Given the description of an element on the screen output the (x, y) to click on. 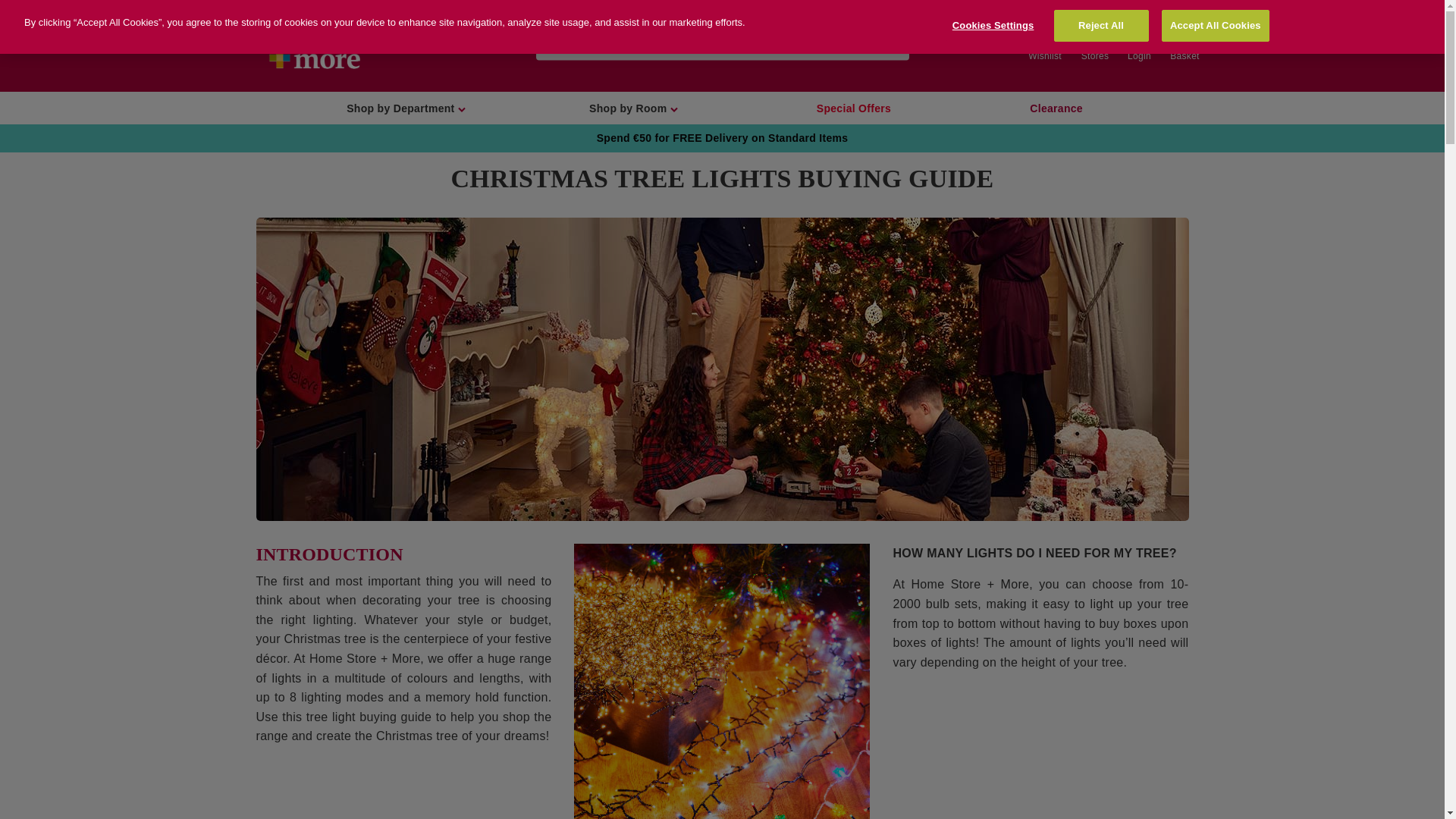
Wishlist (1035, 45)
Basket (1184, 45)
View Basket (1184, 45)
Wishlist (1035, 45)
Stores (1085, 45)
Shop by Department (405, 108)
Stores (1085, 45)
